Given the description of an element on the screen output the (x, y) to click on. 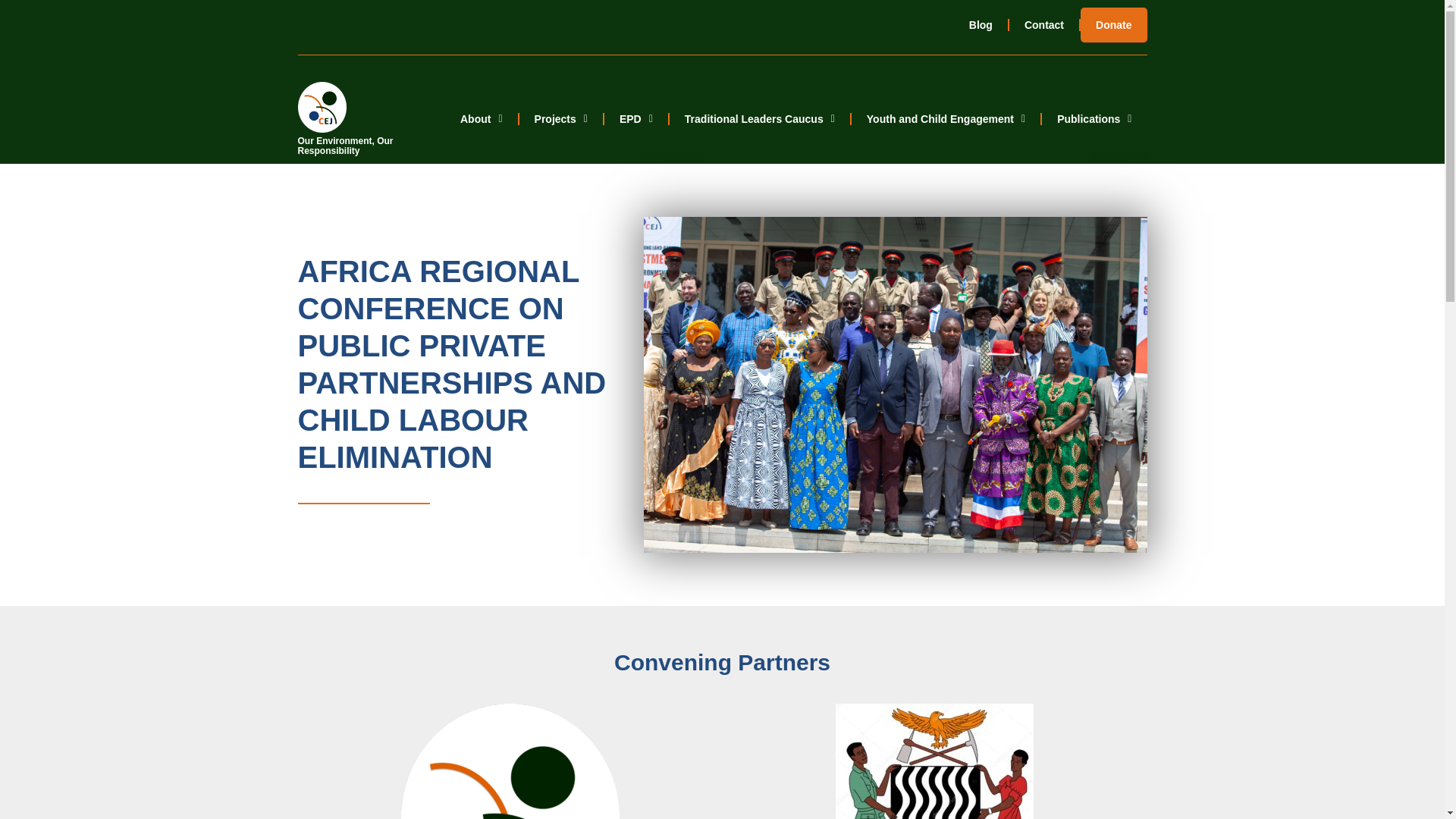
EPD (636, 118)
Contact (1043, 24)
Donate (1113, 24)
About (481, 118)
Projects (560, 118)
Blog (980, 24)
